Given the description of an element on the screen output the (x, y) to click on. 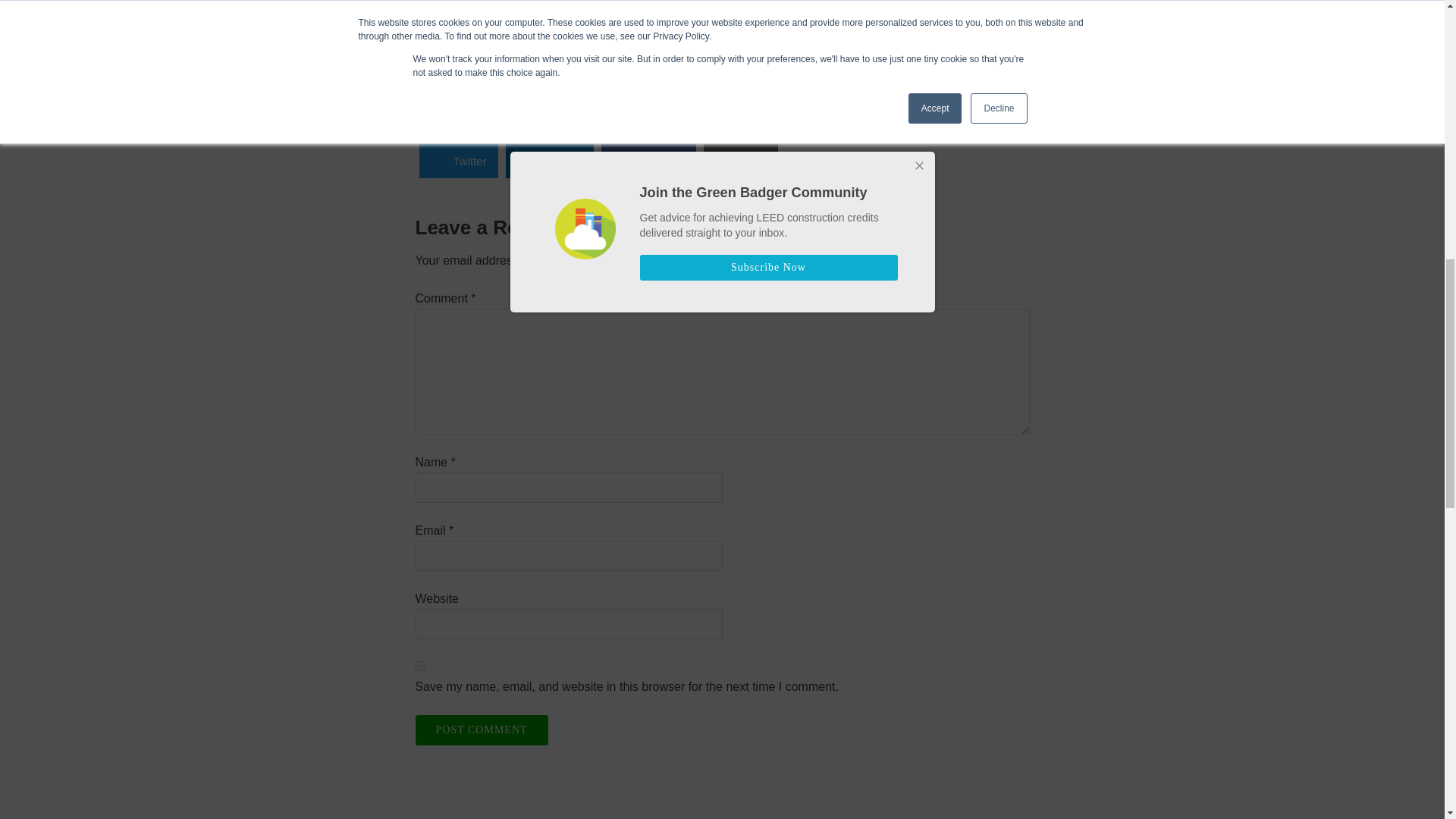
yes (419, 665)
Post Comment (481, 729)
